Given the description of an element on the screen output the (x, y) to click on. 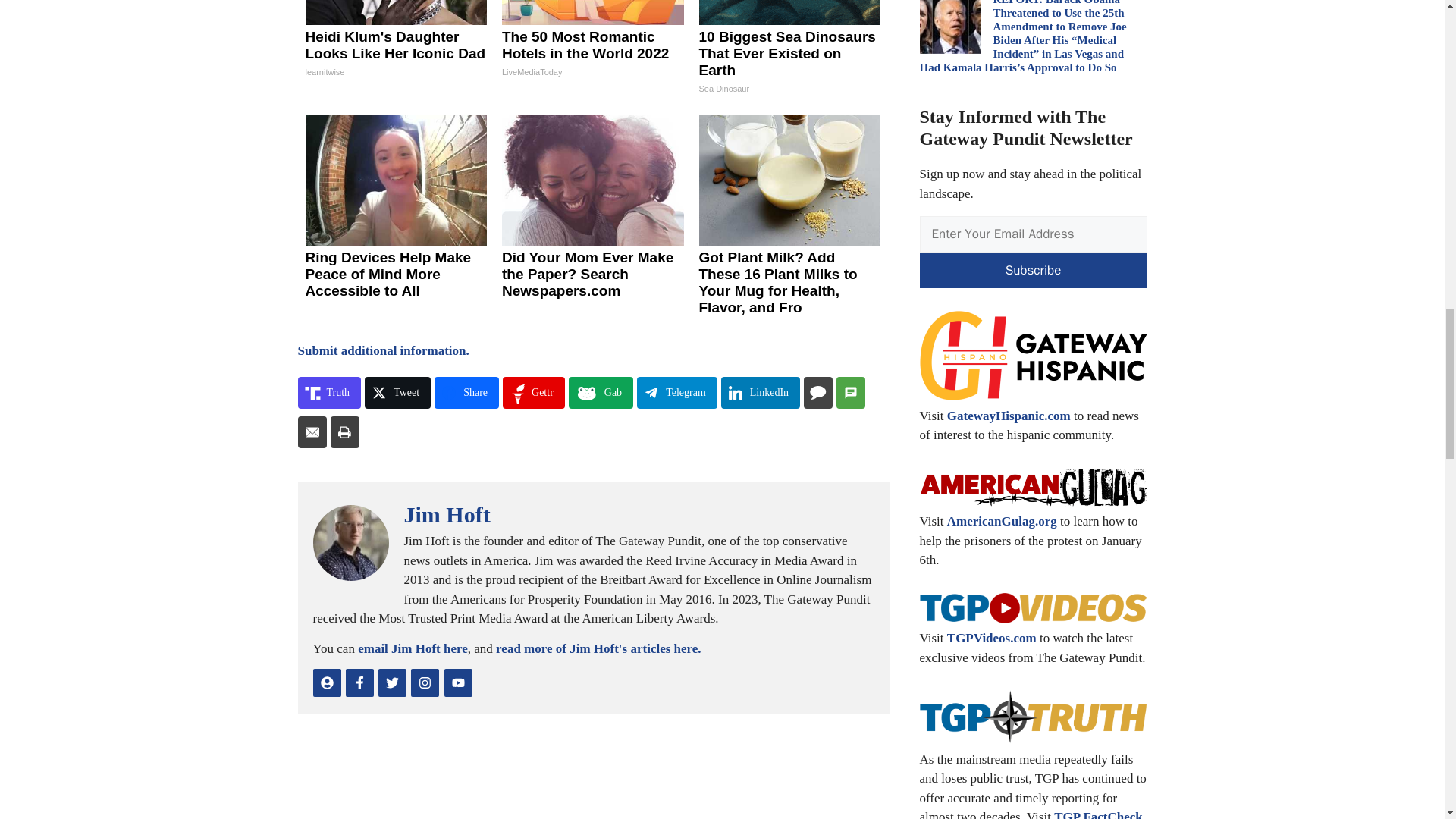
Subscribe (1032, 270)
